Given the description of an element on the screen output the (x, y) to click on. 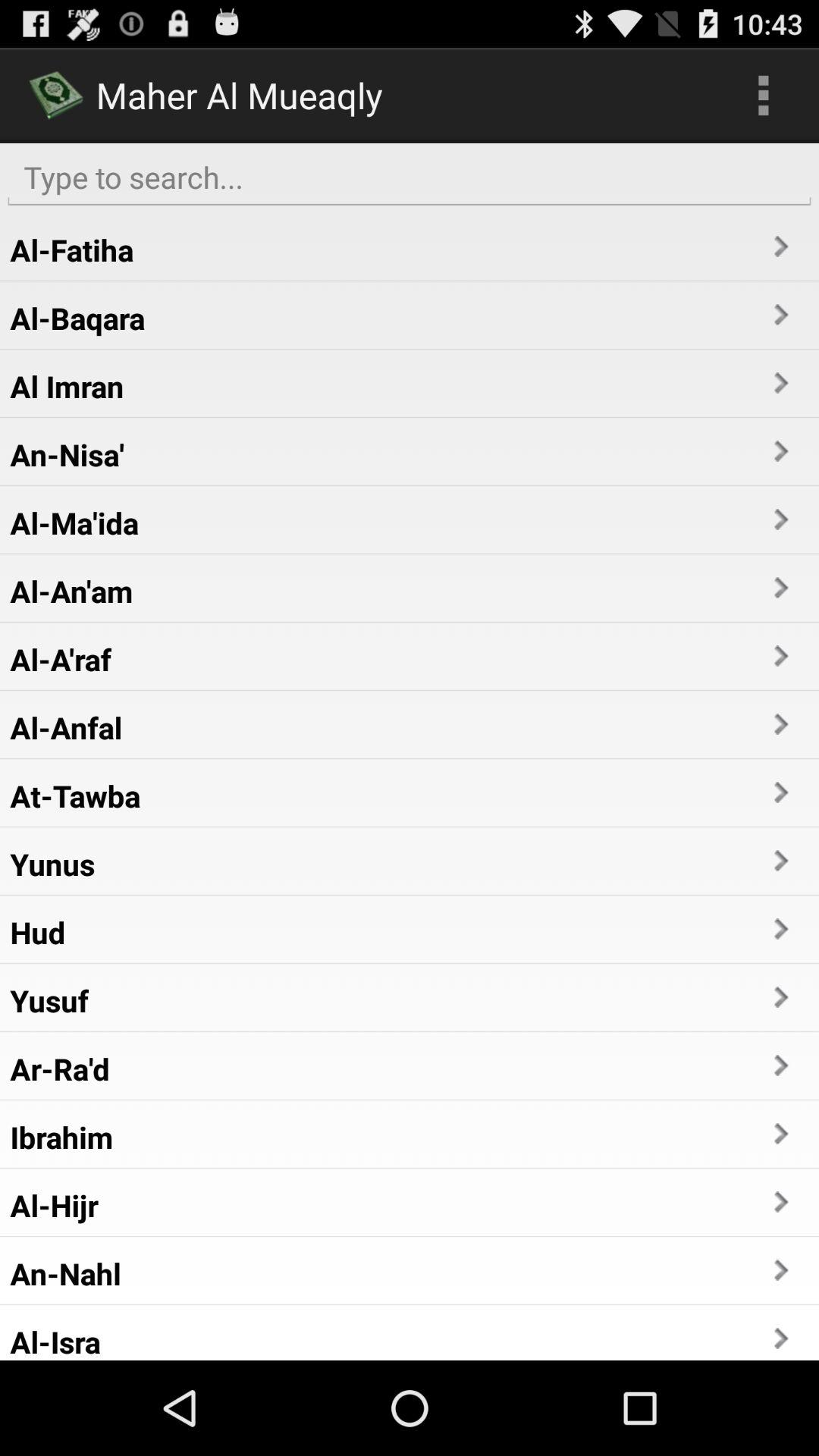
scroll until yusuf item (49, 1000)
